Given the description of an element on the screen output the (x, y) to click on. 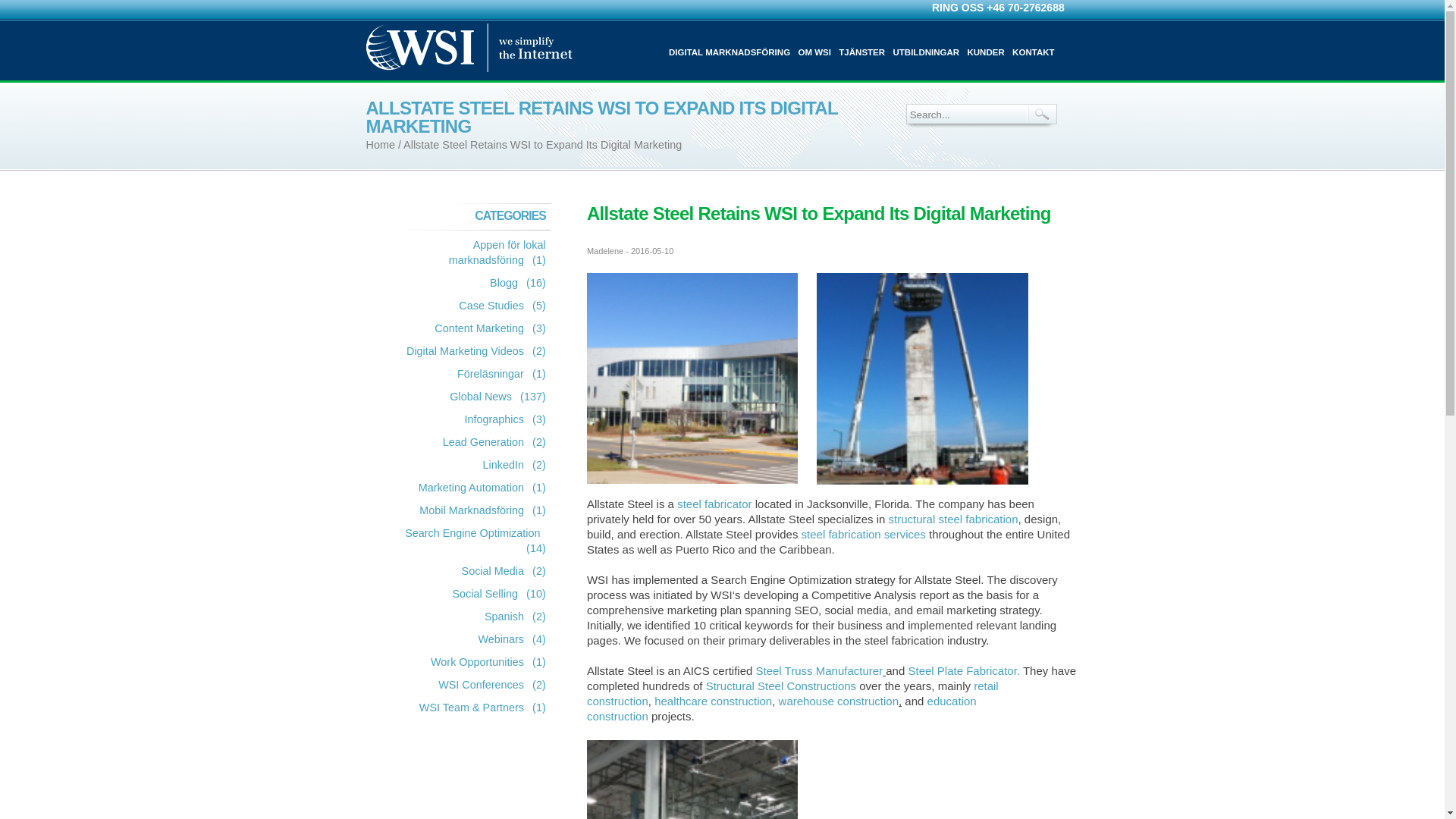
Case Studies (483, 306)
Global News (472, 397)
KUNDER (985, 52)
Content Marketing (471, 329)
Digital Marketing Videos (457, 352)
Infographics (486, 420)
Search (1042, 114)
Search (1042, 114)
Search... (964, 114)
Allstate Steel Retains WSI to Expand Its Digital Marketing (542, 144)
